Given the description of an element on the screen output the (x, y) to click on. 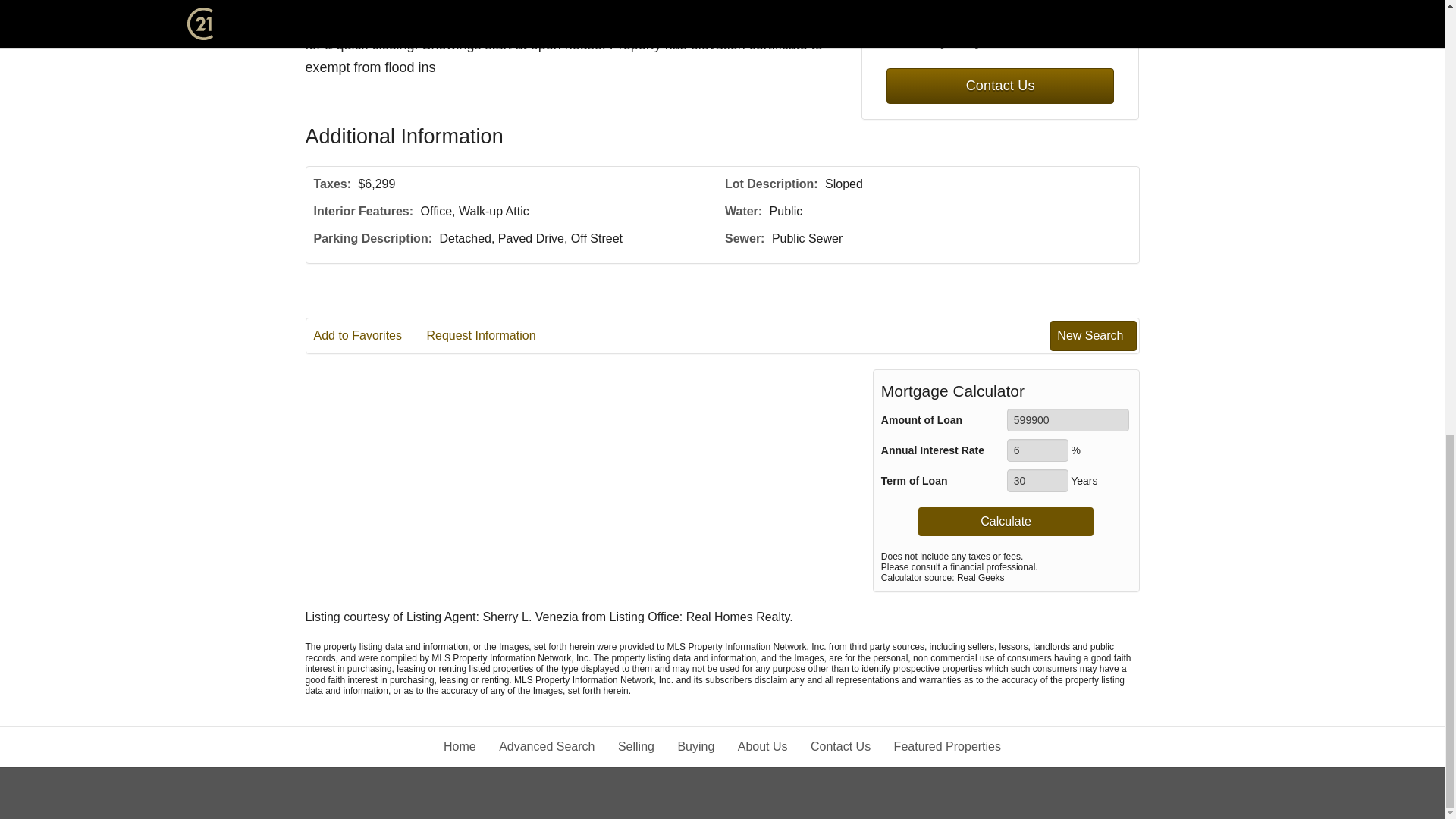
Contact Us (999, 85)
599900 (1068, 419)
6 (1037, 449)
30 (1037, 480)
